Given the description of an element on the screen output the (x, y) to click on. 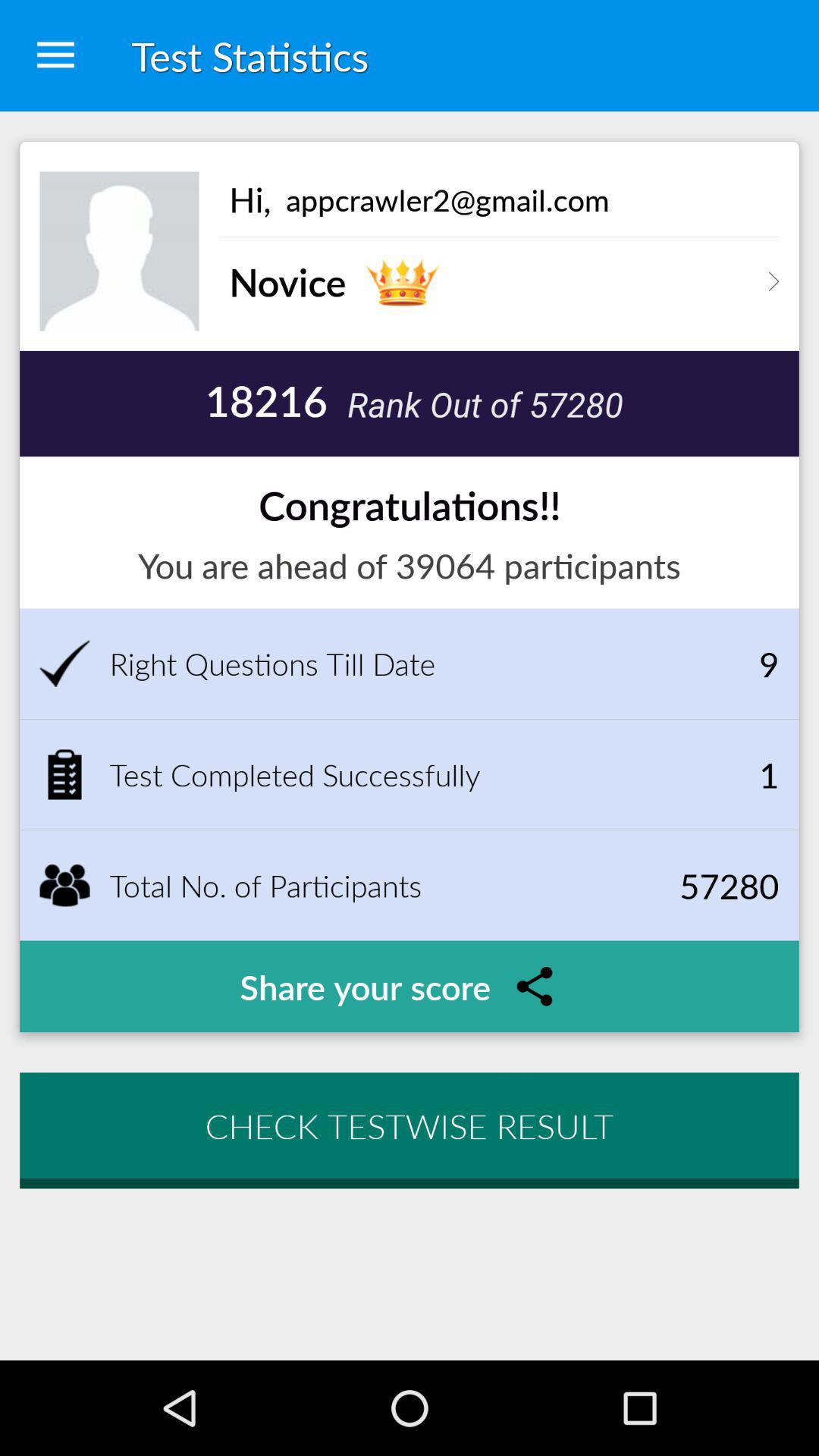
go to the icon which is right to the text share your score (534, 986)
click on the symbol which is left hand side of test completed successfully (65, 774)
select the symbol which is to the left of the total no of participants (65, 885)
click on user icon (119, 251)
